Given the description of an element on the screen output the (x, y) to click on. 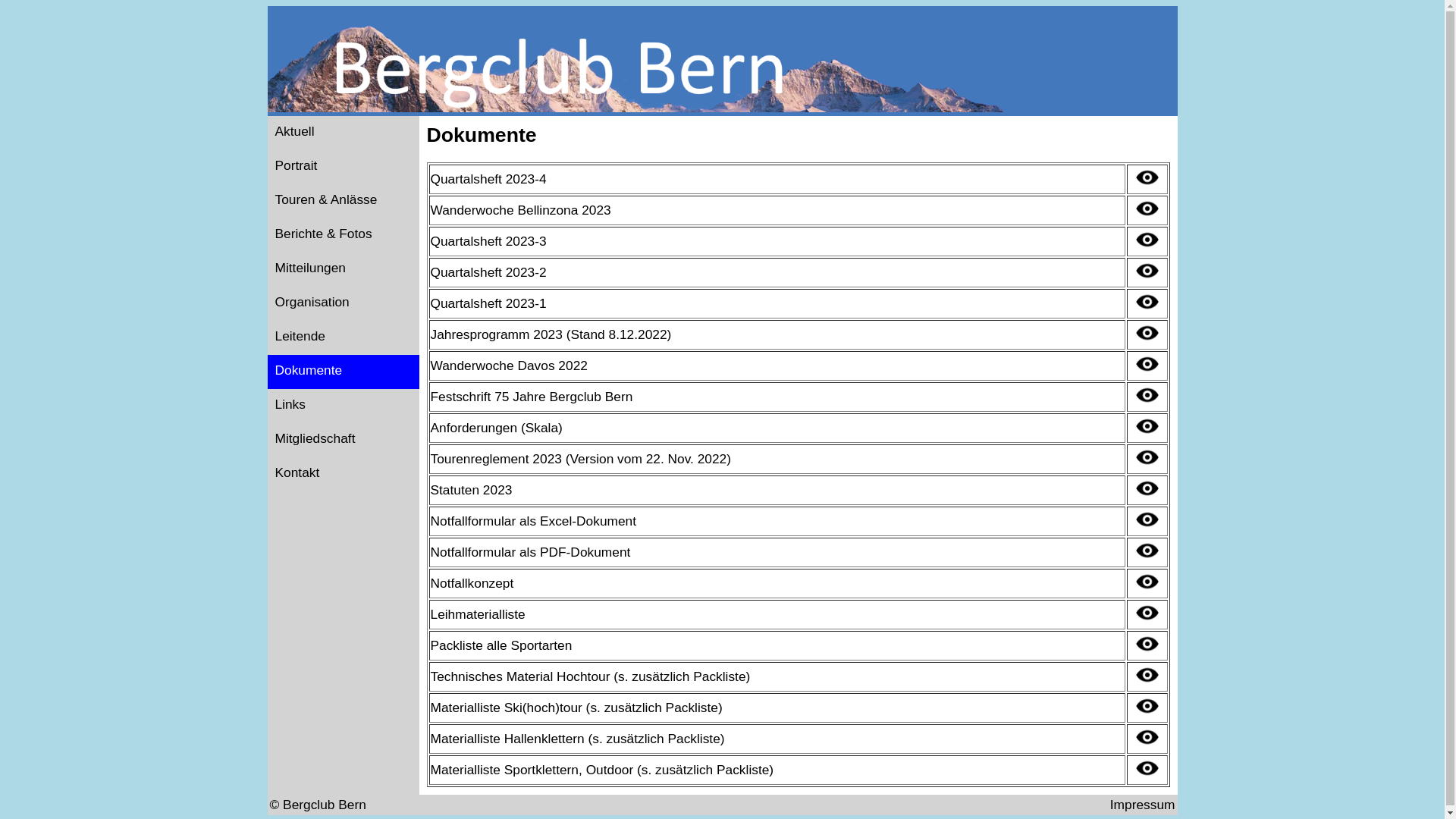
Wanderwoche Davos 2022 Element type: text (508, 365)
Mitteilungen Element type: text (342, 269)
Aktuell Element type: text (342, 133)
Quartalsheft 2023-2 Element type: text (488, 271)
Kontakt Element type: text (342, 474)
Tourenreglement 2023 (Version vom 22. Nov. 2022) Element type: text (580, 458)
Quartalsheft 2023-4 Element type: text (488, 178)
Impressum Element type: text (1142, 804)
Jahresprogramm 2023 (Stand 8.12.2022) Element type: text (550, 334)
Organisation Element type: text (342, 303)
Anforderungen (Skala) Element type: text (496, 427)
Quartalsheft 2023-3 Element type: text (488, 240)
Quartalsheft 2023-1 Element type: text (488, 302)
Leitende Element type: text (342, 337)
Packliste alle Sportarten Element type: text (501, 644)
Wanderwoche Bellinzona 2023 Element type: text (520, 209)
Notfallformular als PDF-Dokument Element type: text (530, 551)
Berichte & Fotos Element type: text (342, 235)
Links Element type: text (342, 406)
Festschrift 75 Jahre Bergclub Bern Element type: text (531, 396)
Notfallkonzept Element type: text (472, 582)
Dokumente Element type: text (342, 371)
Notfallformular als Excel-Dokument Element type: text (533, 520)
Leihmaterialliste Element type: text (477, 613)
Statuten 2023 Element type: text (471, 489)
Portrait Element type: text (342, 167)
Mitgliedschaft Element type: text (342, 440)
